Given the description of an element on the screen output the (x, y) to click on. 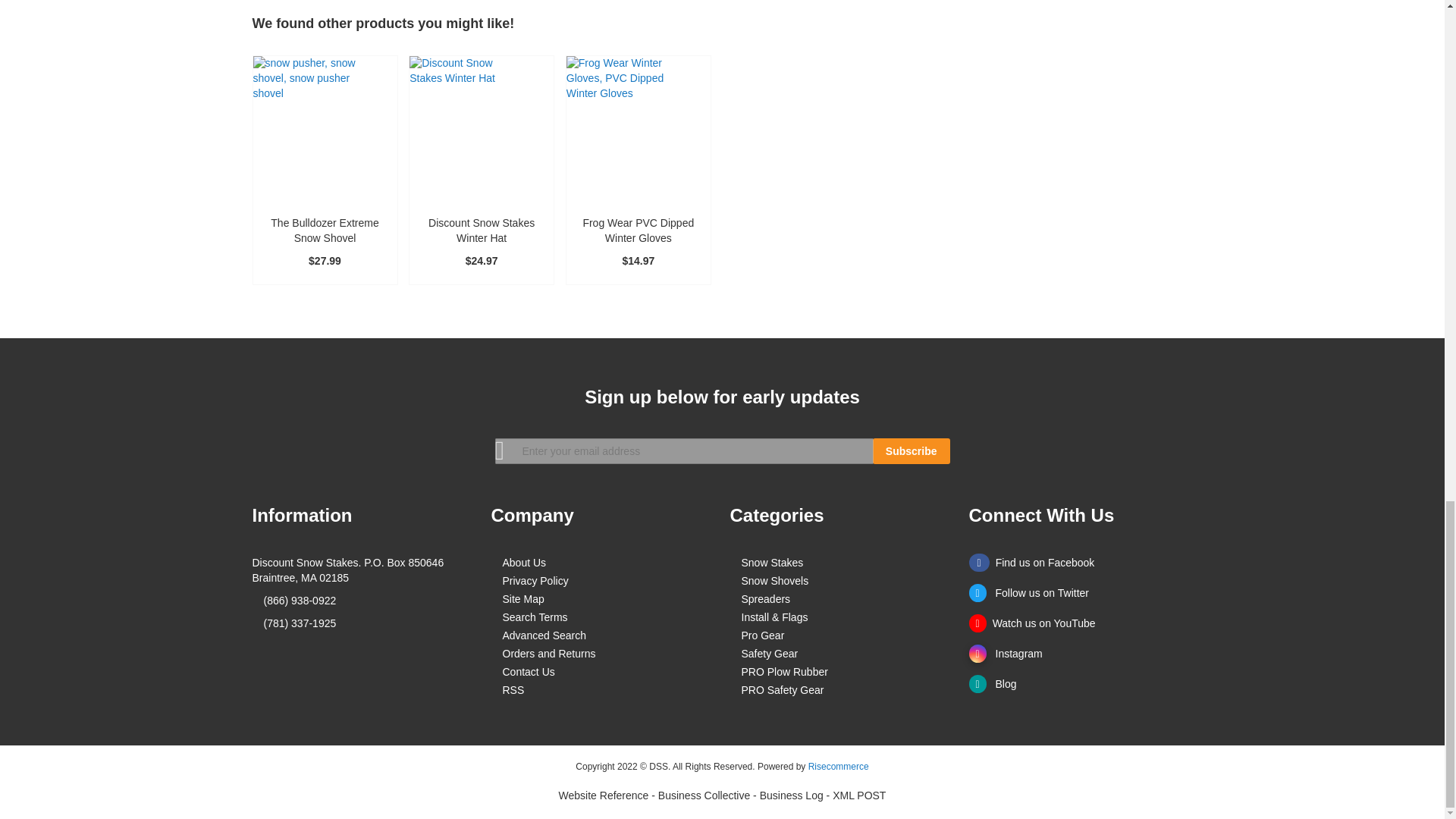
Subscribe (911, 451)
The Bulldozer Extreme Snow Shovel (324, 230)
Frog Wear PVC Dipped Winter Gloves (638, 230)
Discount Snow Stakes Winter Hat (481, 230)
